Given the description of an element on the screen output the (x, y) to click on. 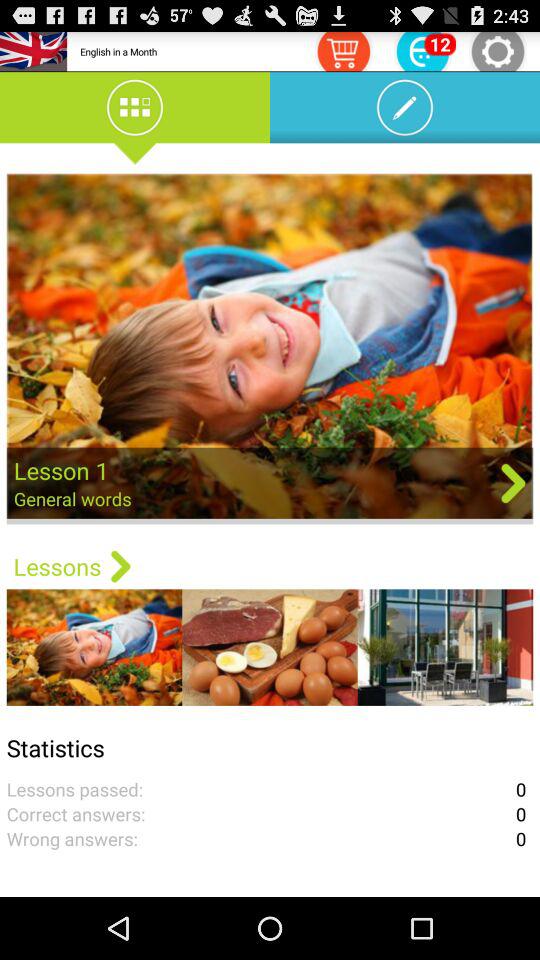
select the third image which is below lessons on a page (445, 647)
click on the second image which is below the lessons option (269, 647)
click on the next arrow option to the right of lesson 1 text (513, 483)
select the symbol which is second to the left of settings symbol (343, 51)
select edit button on page (404, 110)
